Given the description of an element on the screen output the (x, y) to click on. 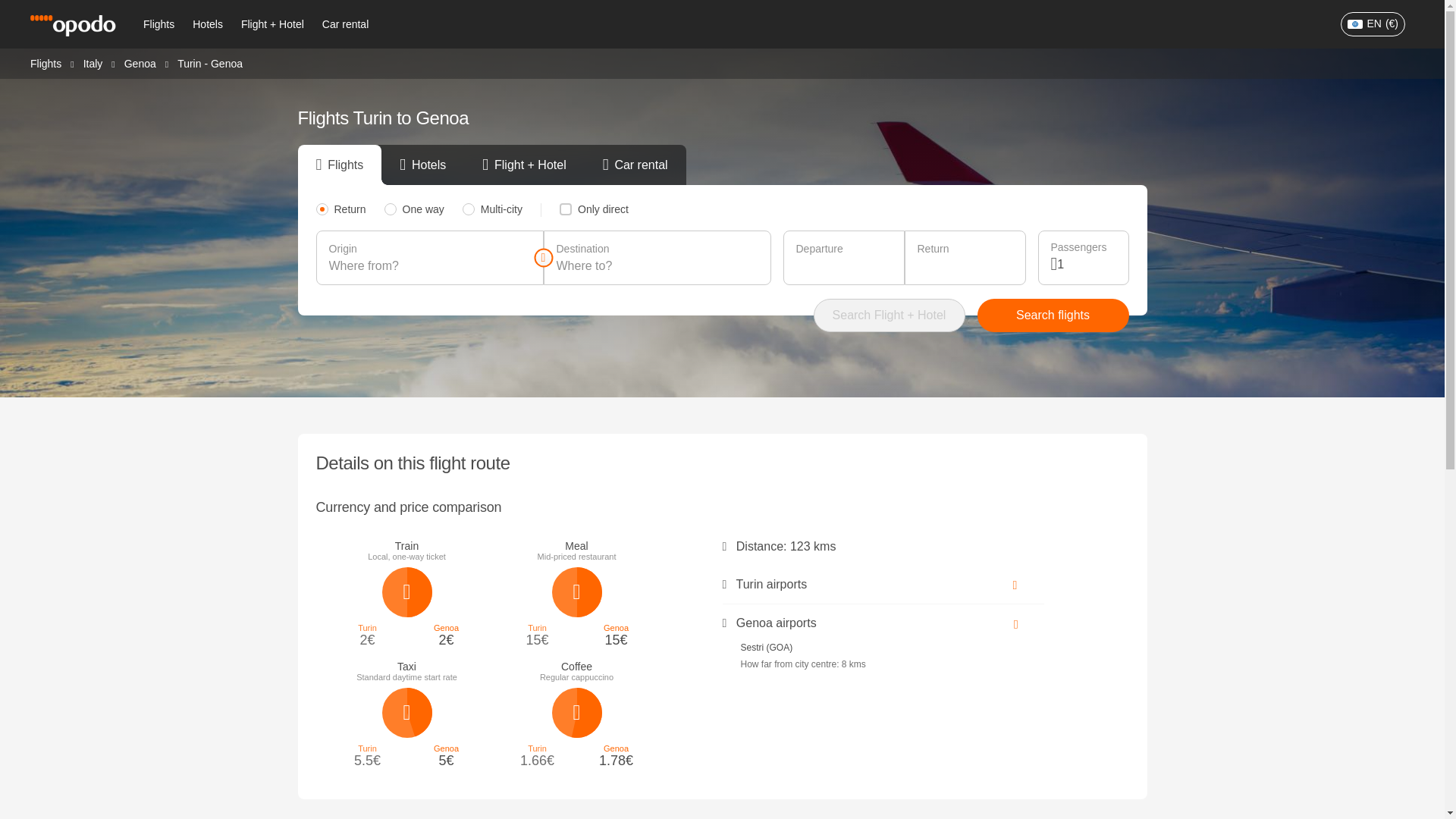
Search flights (1052, 315)
Italy (92, 62)
Car rental (345, 24)
Flights (45, 62)
Flights (158, 24)
1 (1086, 263)
Genoa (139, 62)
Hotels (207, 24)
Turin - Genoa (210, 63)
